Given the description of an element on the screen output the (x, y) to click on. 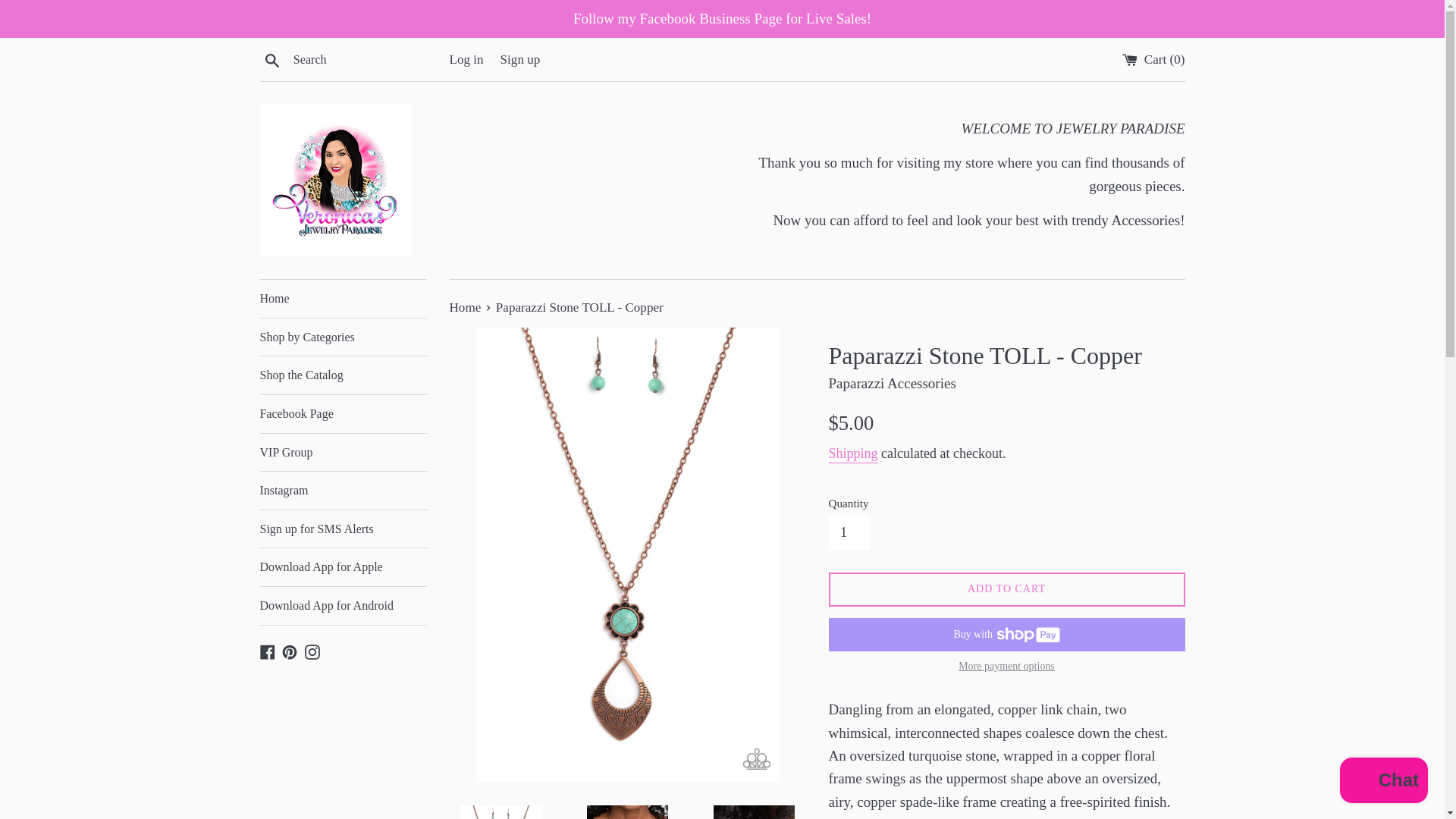
VIP Group (342, 452)
Facebook Page (342, 413)
Download App for Android (342, 605)
Veronica's Jewelry Paradise on Instagram (312, 650)
Download App for Apple (342, 566)
Pinterest (289, 650)
Veronica's Jewelry Paradise on Facebook (267, 650)
Sign up for SMS Alerts (342, 528)
1 (848, 532)
Shop by Categories (342, 337)
